Given the description of an element on the screen output the (x, y) to click on. 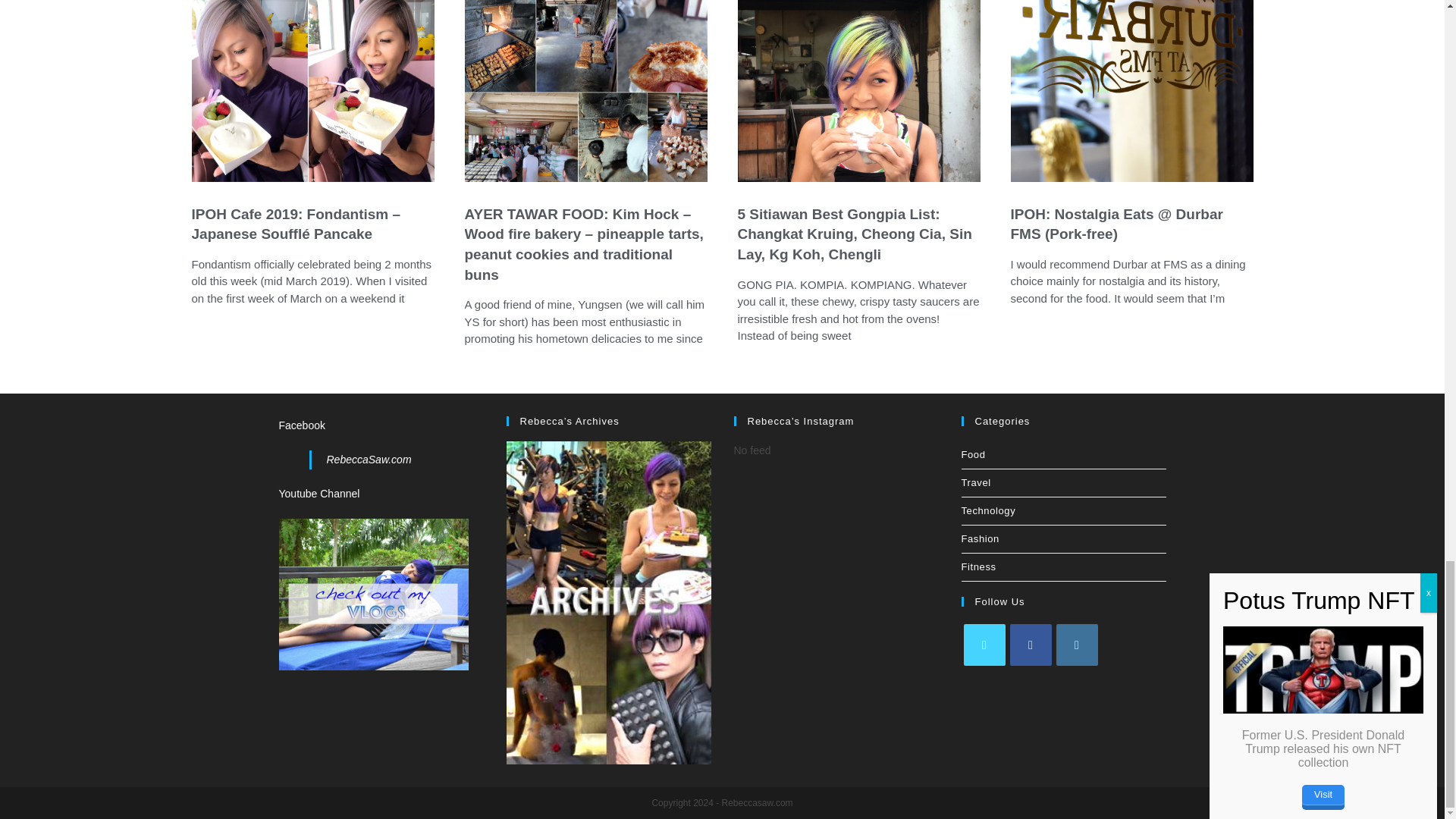
rebecca's youtube (373, 593)
RebeccaSaw.com (368, 459)
Rebecca's Archives (608, 602)
